Given the description of an element on the screen output the (x, y) to click on. 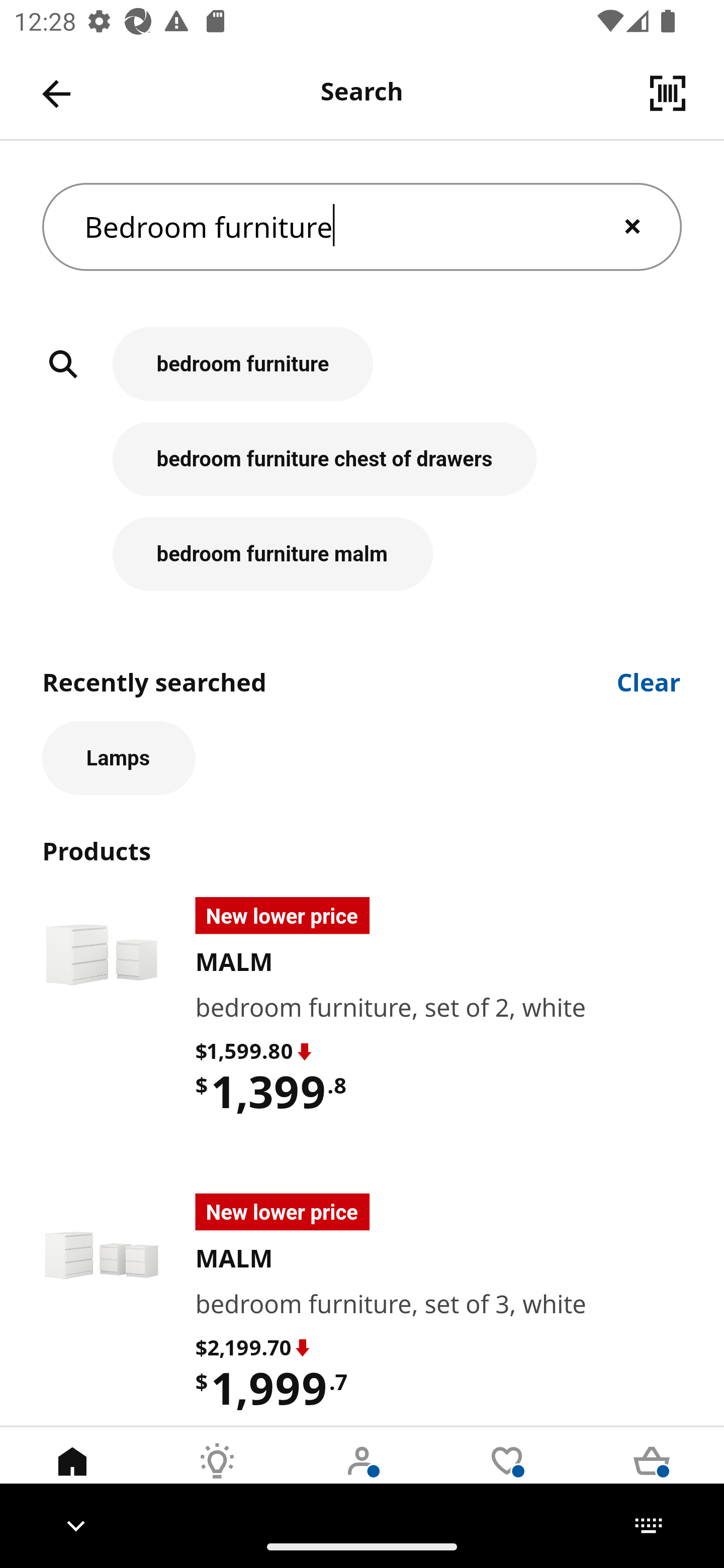
Bedroom furniture (361, 227)
bedroom furniture (361, 374)
bedroom furniture chest of drawers (361, 469)
bedroom furniture malm (361, 554)
Clear (649, 680)
Lamps (118, 757)
Home
Tab 1 of 5 (72, 1476)
Inspirations
Tab 2 of 5 (216, 1476)
User
Tab 3 of 5 (361, 1476)
Wishlist
Tab 4 of 5 (506, 1476)
Cart
Tab 5 of 5 (651, 1476)
